Given the description of an element on the screen output the (x, y) to click on. 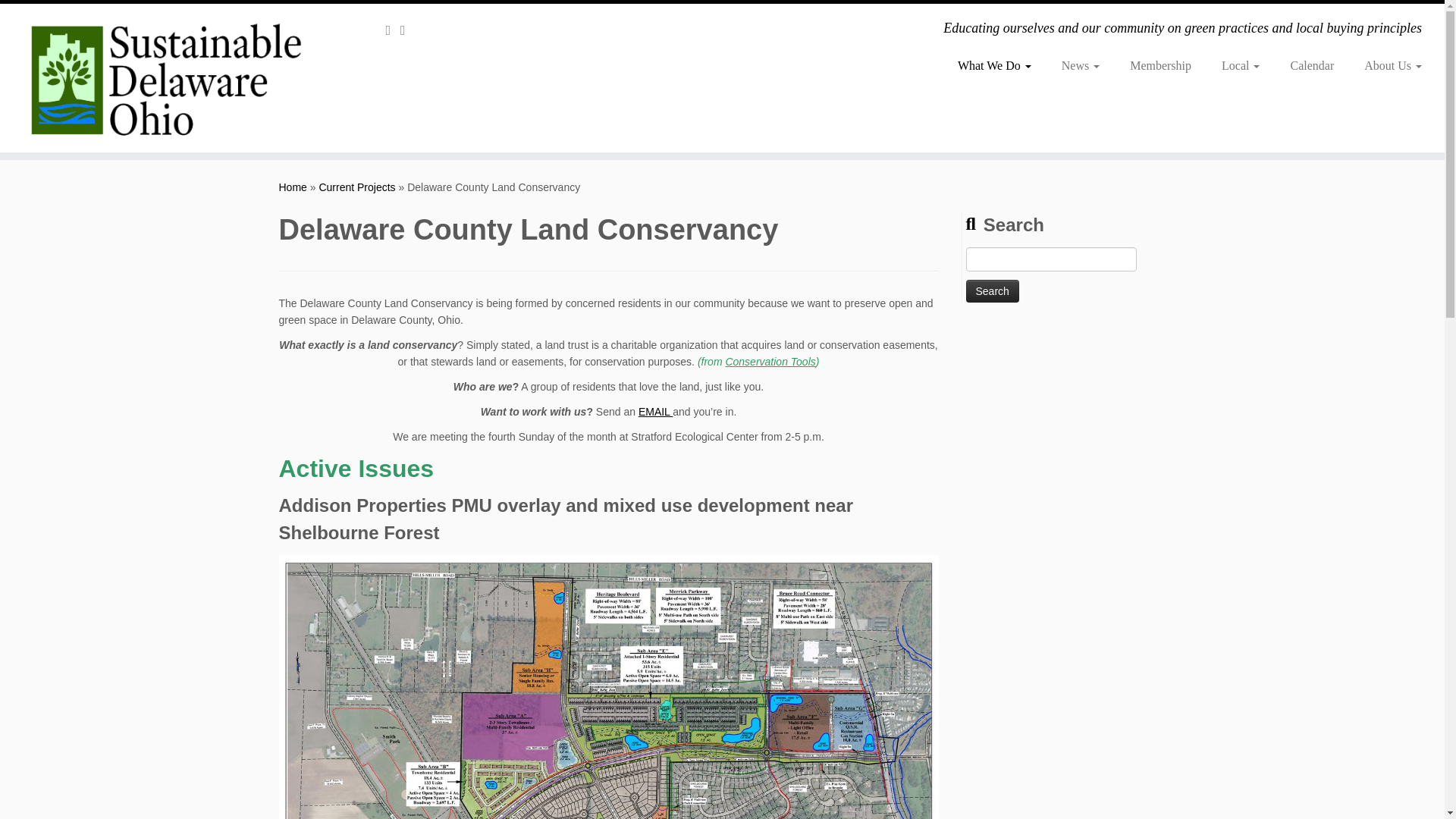
Sustainable Delaware Ohio (293, 186)
Home (293, 186)
Membership (1161, 65)
Subscribe to my rss feed (392, 29)
What We Do (994, 65)
About Us (1385, 65)
News (1080, 65)
E-mail (407, 29)
Local (1241, 65)
Calendar (1312, 65)
Current Projects (356, 186)
EMAIL (655, 411)
Search (992, 291)
Current Projects (356, 186)
Search (992, 291)
